Given the description of an element on the screen output the (x, y) to click on. 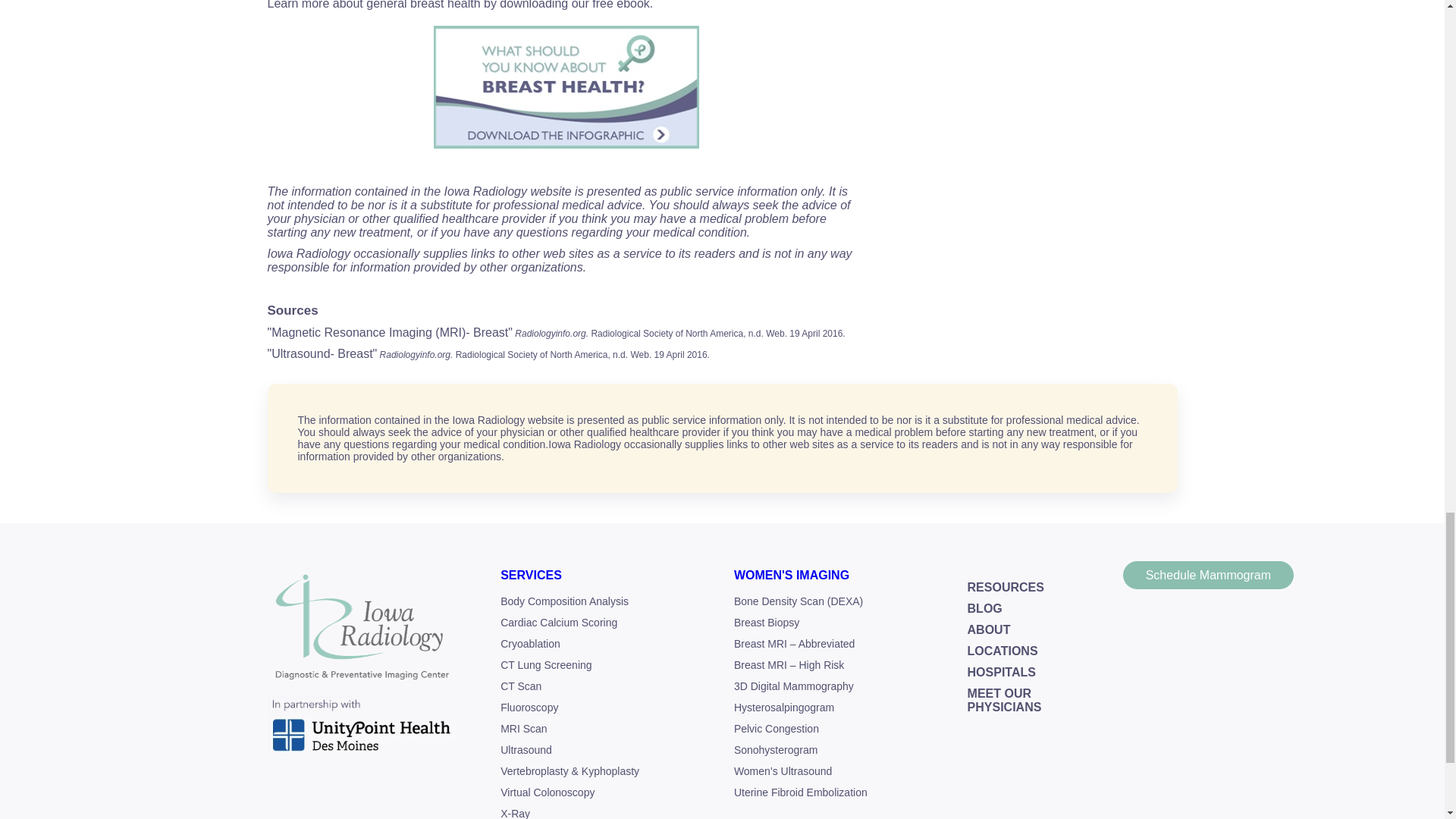
up-new (360, 726)
